Given the description of an element on the screen output the (x, y) to click on. 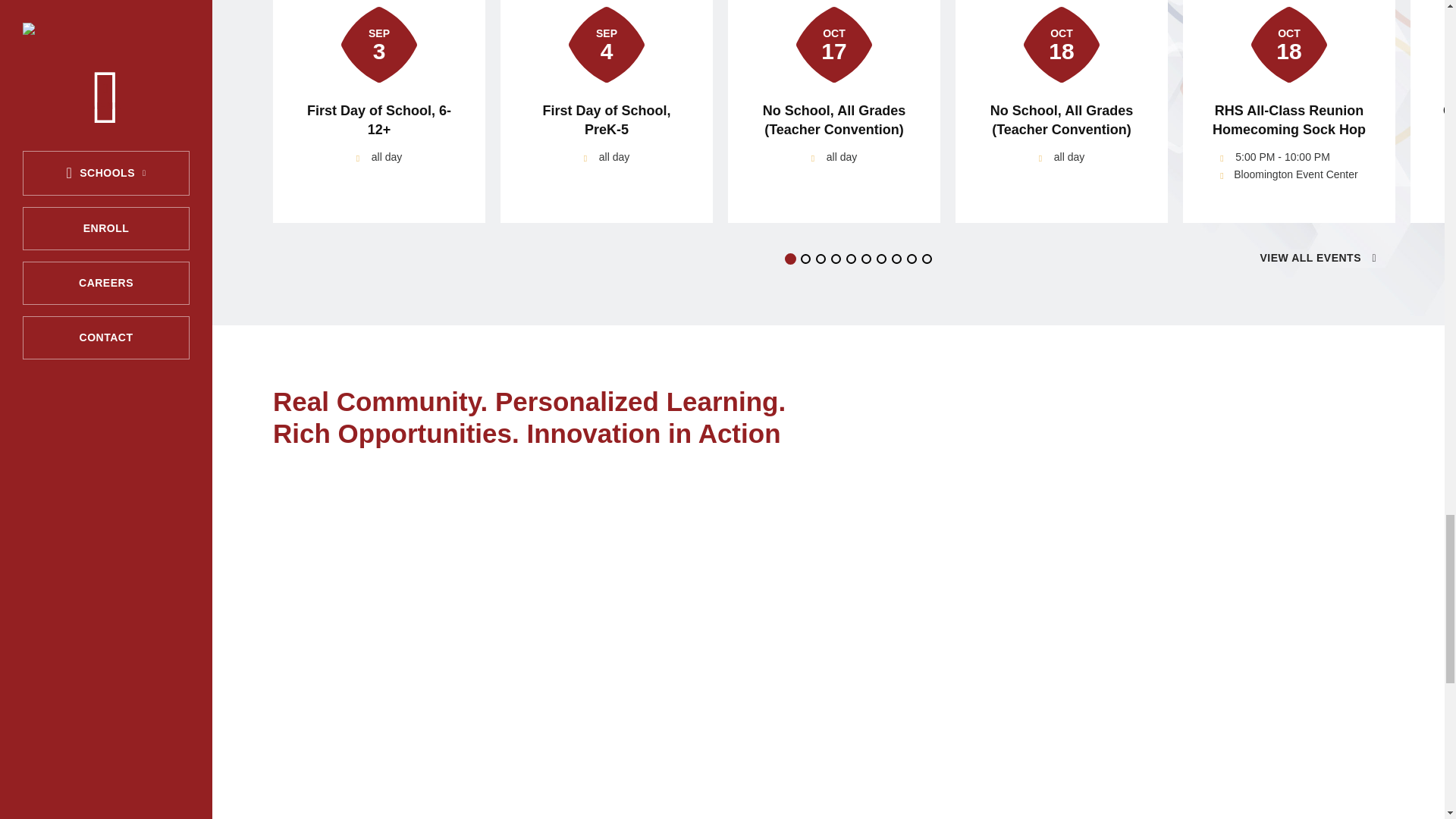
District Calendar (1317, 257)
